Given the description of an element on the screen output the (x, y) to click on. 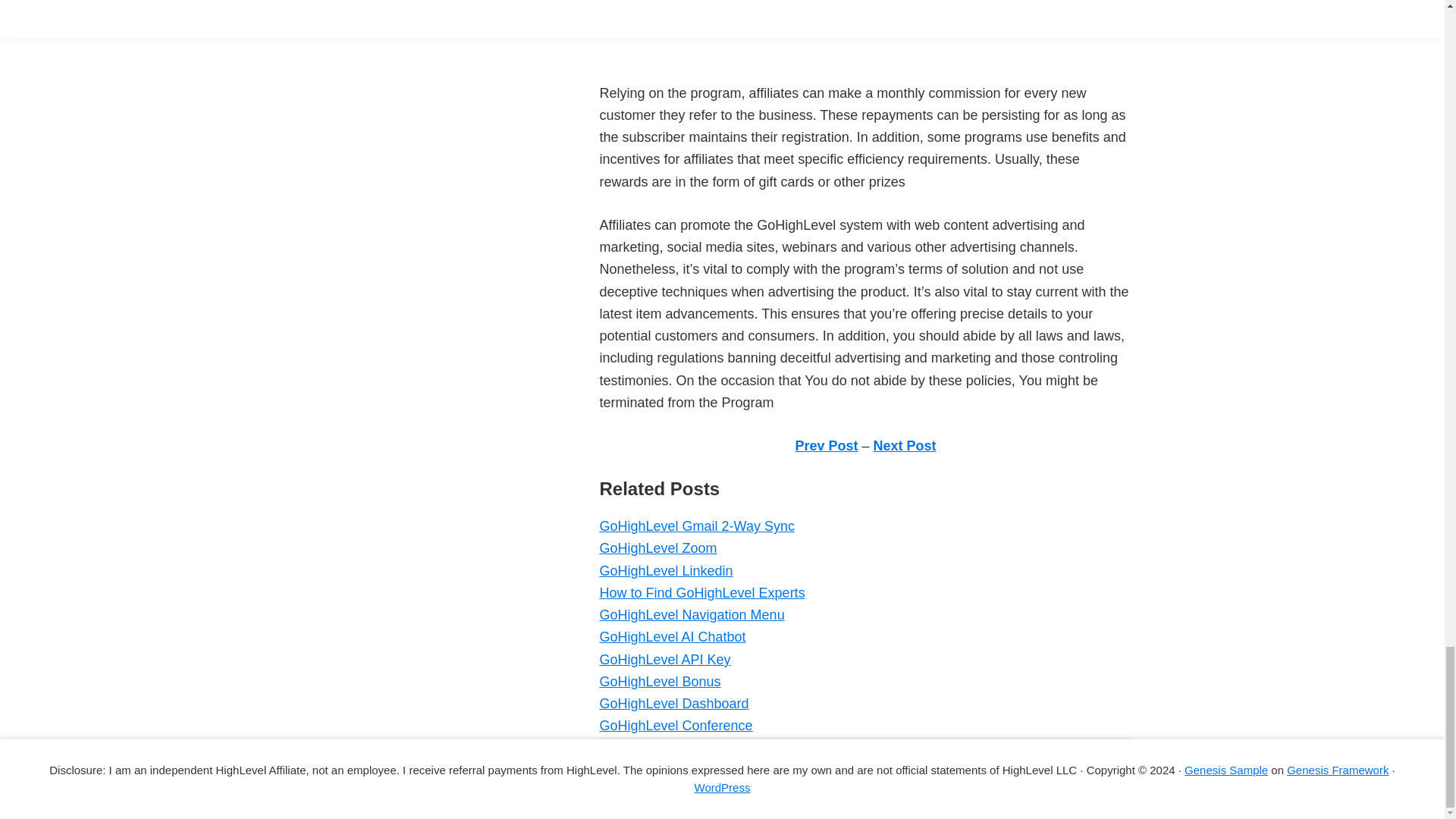
GoHighLevel Zoom (657, 548)
How to Find GoHighLevel Experts (701, 592)
GoHighLevel API Key (664, 659)
GoHighLevel Conference (675, 725)
GoHighLevel Bonus (659, 681)
GoHighLevel Navigation Menu (691, 614)
GoHighLevel Gmail 2-Way Sync (695, 525)
GoHighLevel Navigation Menu (691, 614)
Prev Post (825, 445)
GoHighLevel Conference (675, 725)
